Given the description of an element on the screen output the (x, y) to click on. 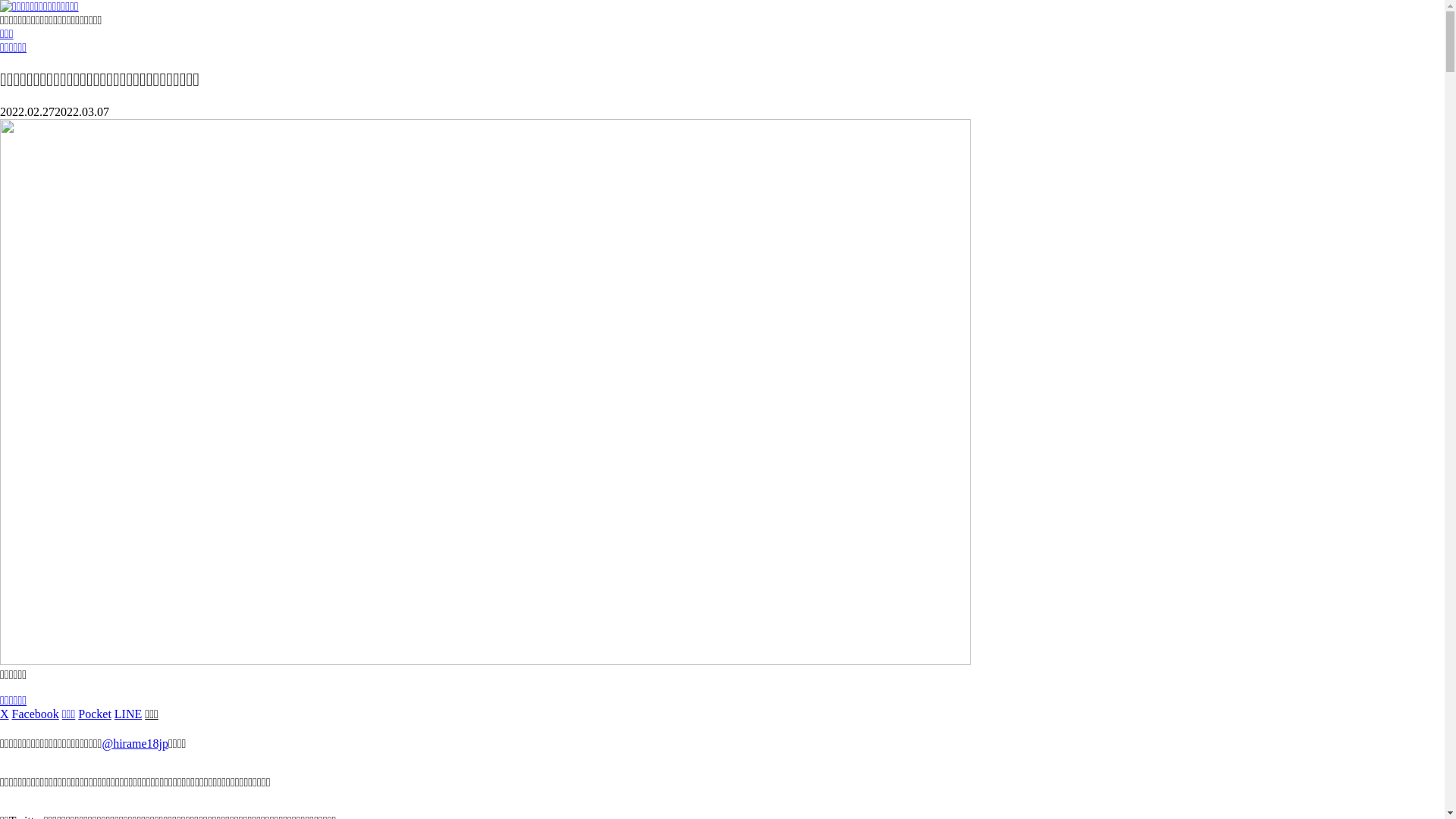
X Element type: text (4, 713)
Facebook Element type: text (35, 713)
LINE Element type: text (127, 713)
Pocket Element type: text (94, 713)
@hirame18jp Element type: text (134, 743)
